Given the description of an element on the screen output the (x, y) to click on. 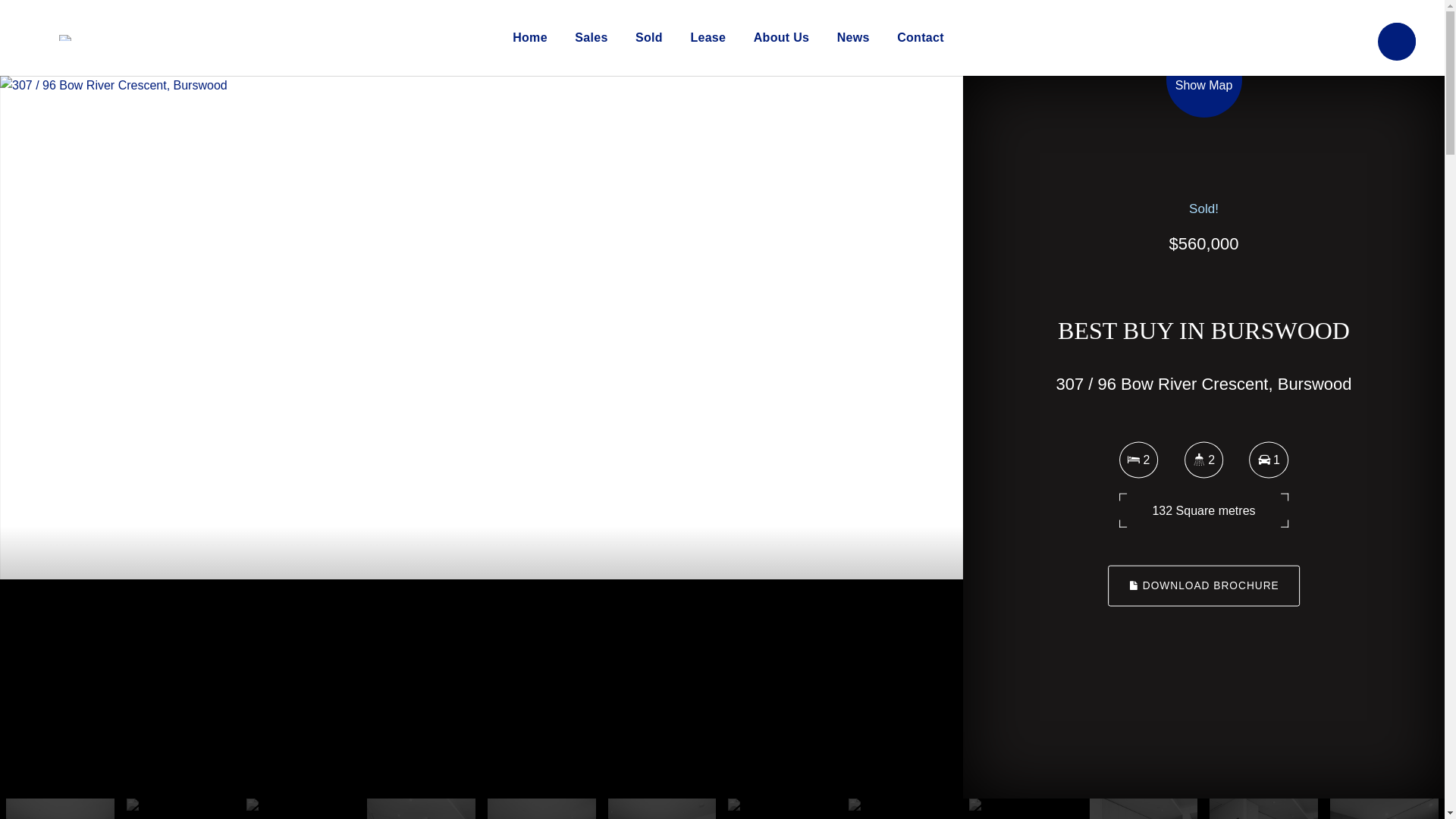
Show Map Element type: text (1204, 94)
DOWNLOAD BROCHURE Element type: text (1203, 585)
307 / 96 Bow River Crescent, Burswood Element type: hover (379, 326)
Home Element type: text (529, 37)
About Us Element type: text (781, 37)
Contact Element type: text (920, 37)
News Element type: text (853, 37)
Sales Element type: text (590, 37)
Lease Element type: text (707, 37)
Sold Element type: text (648, 37)
